Given the description of an element on the screen output the (x, y) to click on. 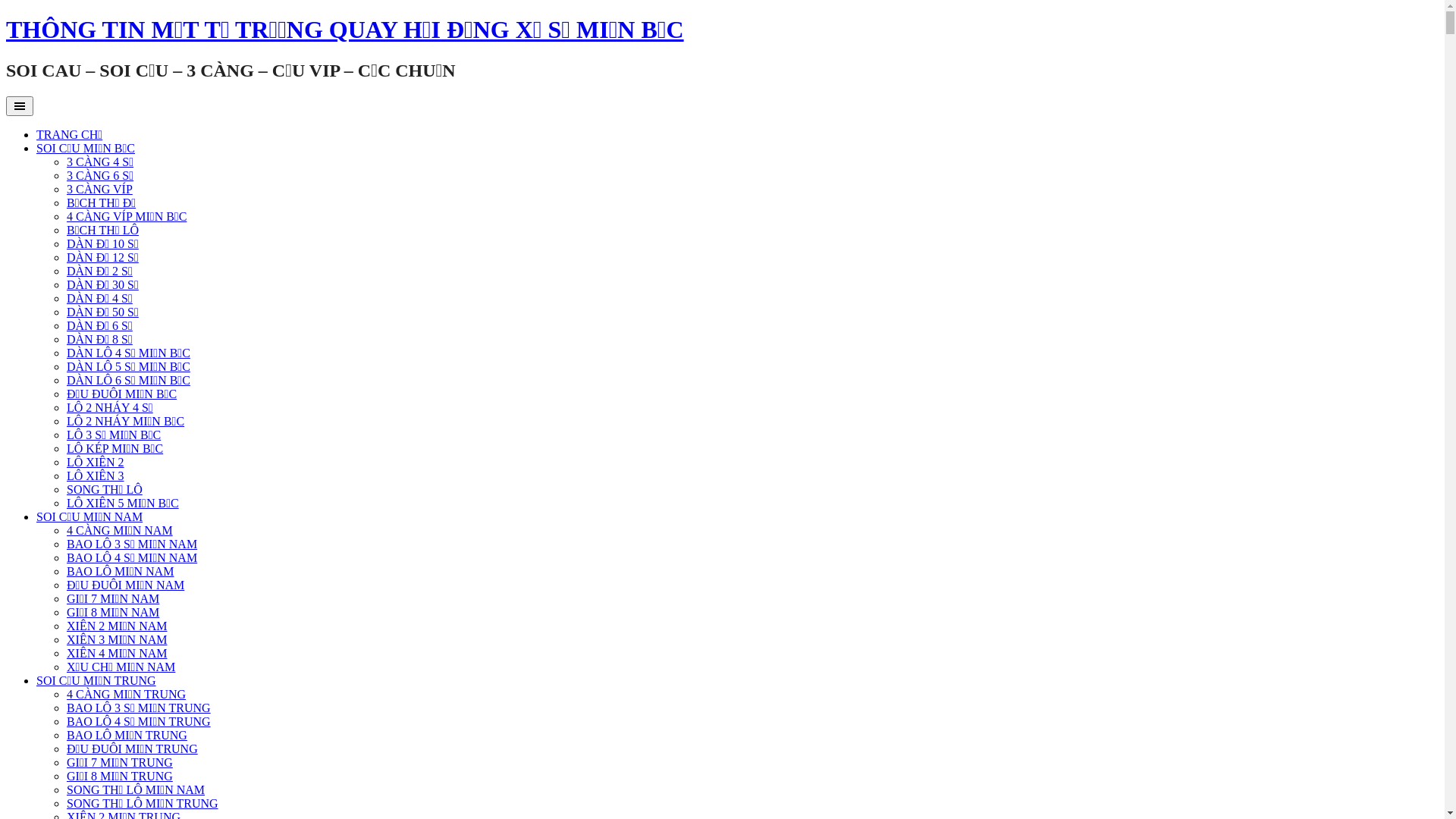
Skip to content Element type: text (5, 15)
